Given the description of an element on the screen output the (x, y) to click on. 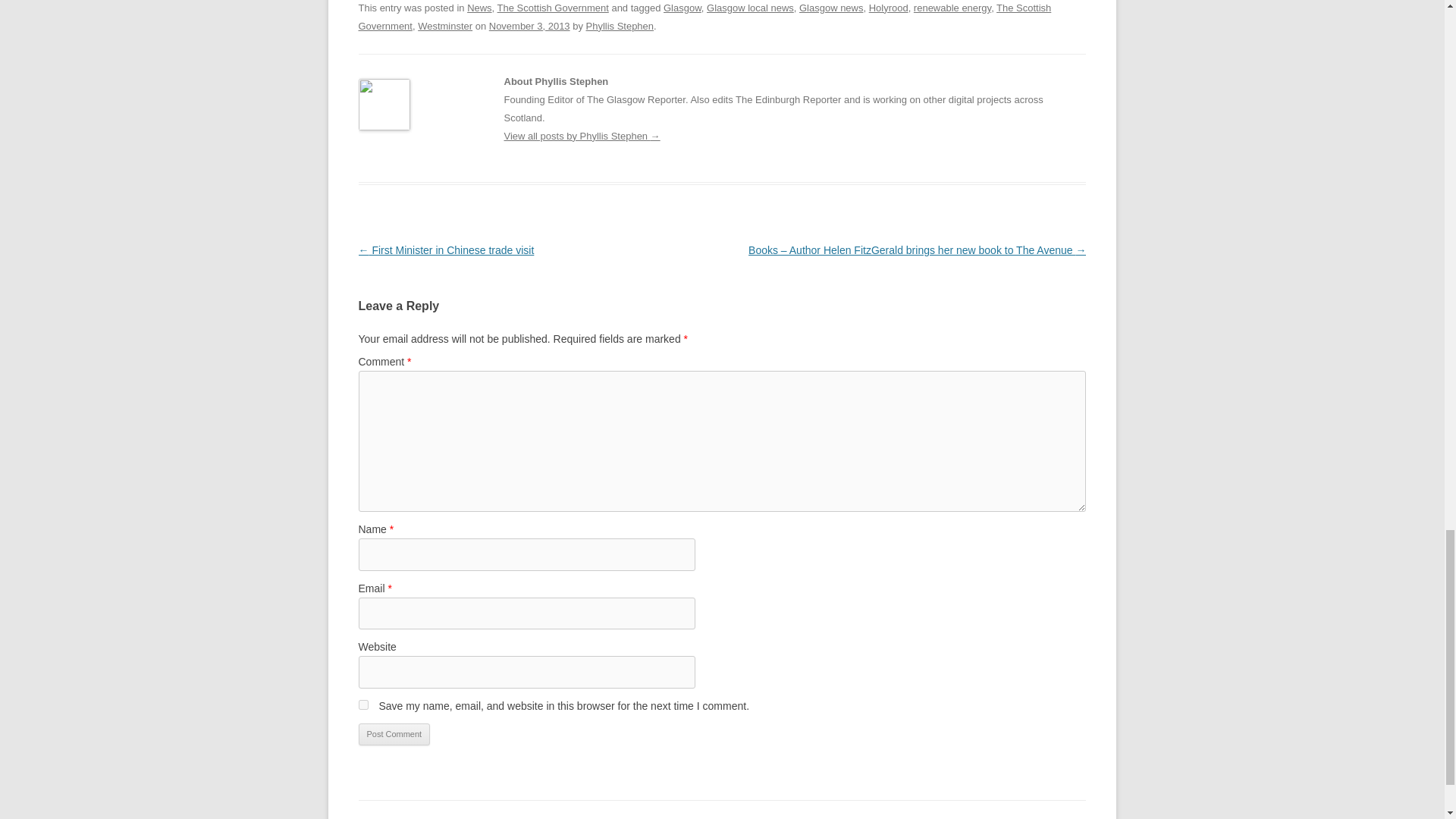
Holyrood (888, 7)
View all posts by Phyllis Stephen (619, 25)
Westminster (444, 25)
The Scottish Government (704, 16)
Glasgow news (831, 7)
The Scottish Government (552, 7)
Post Comment (393, 734)
11:12 am (529, 25)
November 3, 2013 (529, 25)
Glasgow (682, 7)
